Given the description of an element on the screen output the (x, y) to click on. 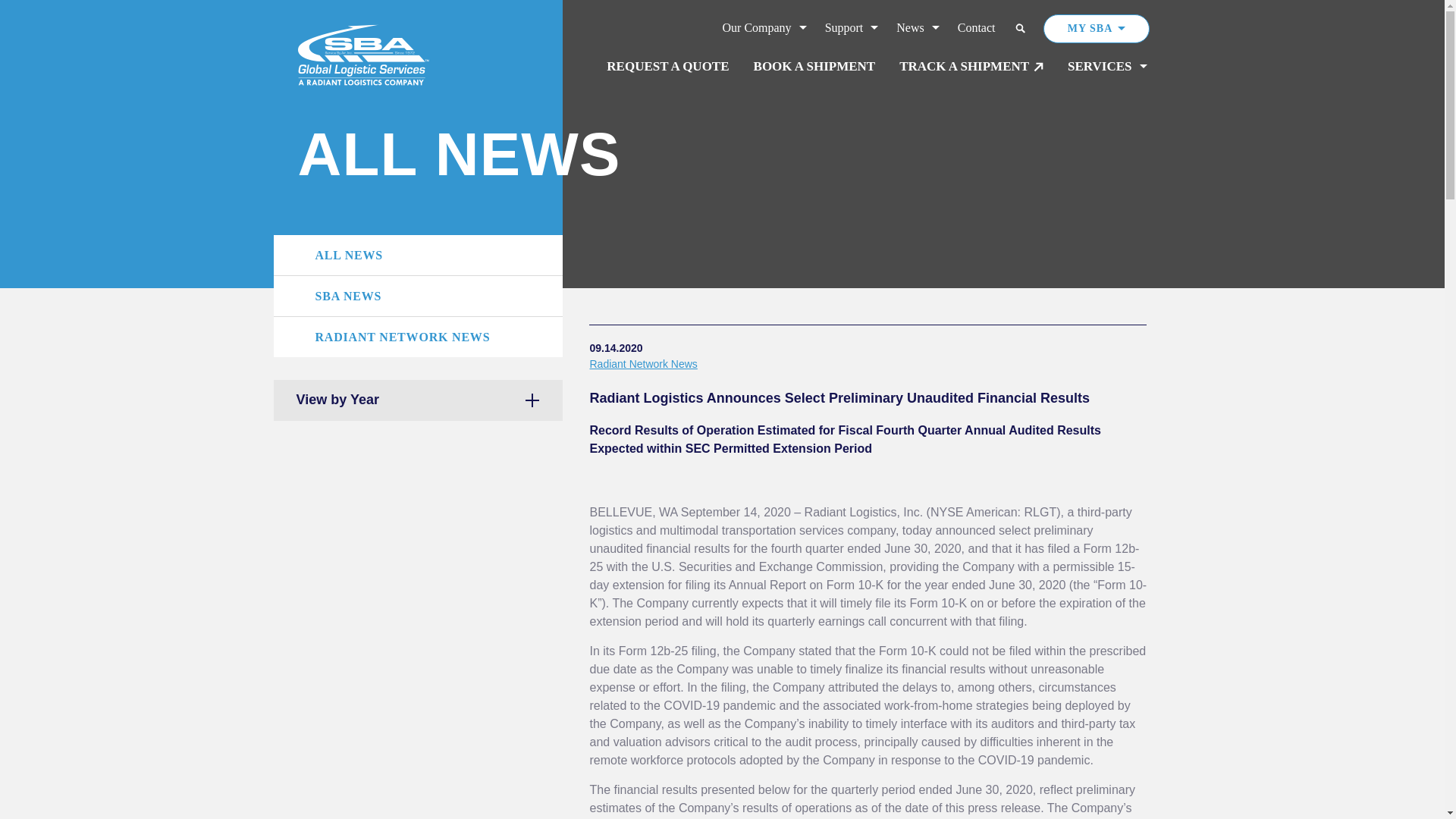
Contact (976, 28)
News (917, 28)
MY SBA (1096, 28)
Our Company (764, 28)
Support (852, 28)
BOOK A SHIPMENT (815, 66)
REQUEST A QUOTE (668, 66)
SERVICES (1107, 66)
TRACK A SHIPMENT (971, 66)
